Given the description of an element on the screen output the (x, y) to click on. 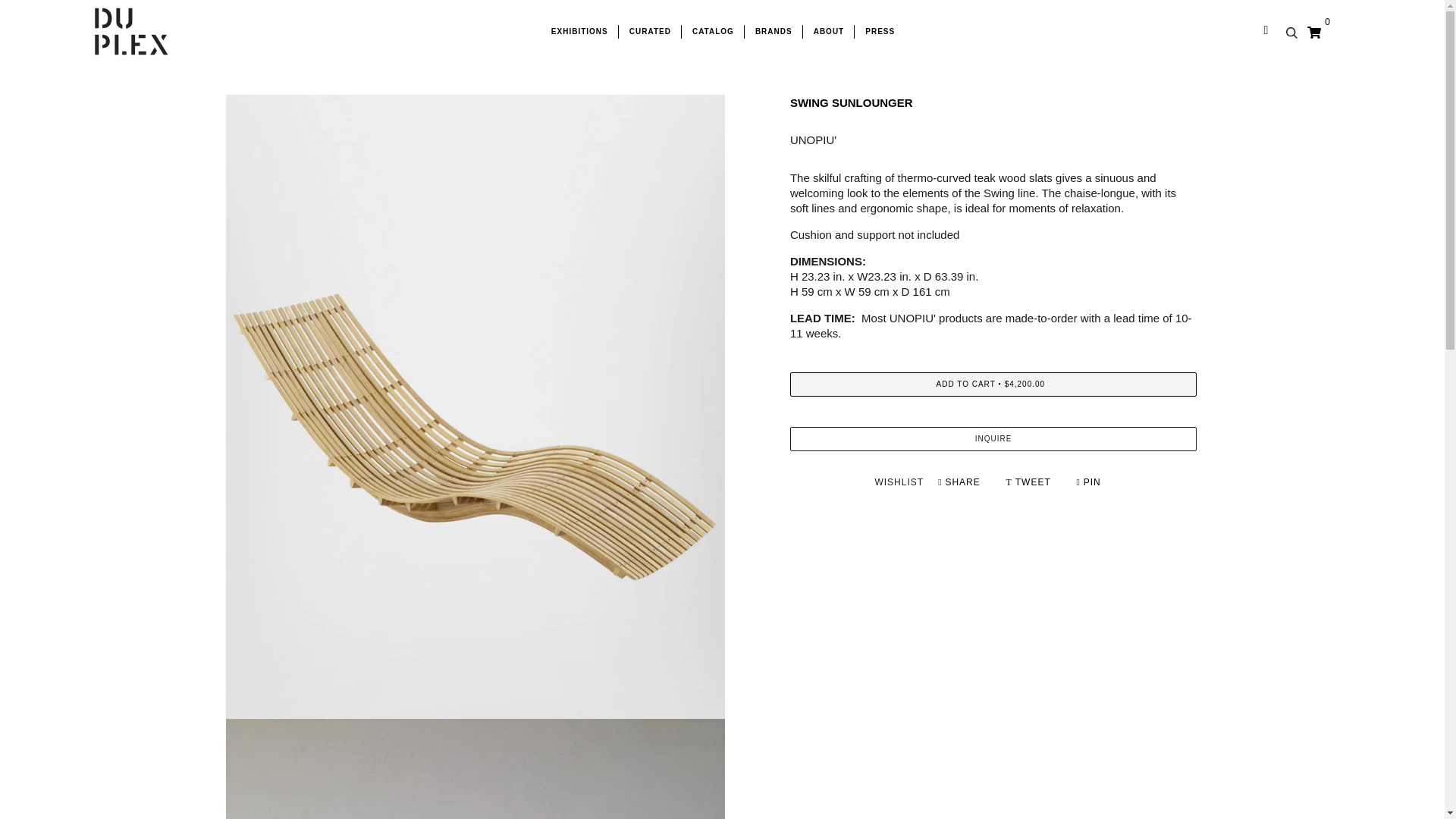
INQUIRE (993, 438)
EXHIBITIONS (578, 31)
BRANDS (773, 31)
BRANDS (773, 31)
TWEET (1030, 482)
ABOUT (828, 31)
ABOUT (828, 31)
PRESS (878, 31)
INQUIRE (993, 438)
CATALOG (712, 31)
EXHIBITIONS (578, 31)
PIN (1088, 482)
SHARE (959, 482)
CATALOG (712, 31)
CURATED (649, 31)
